Given the description of an element on the screen output the (x, y) to click on. 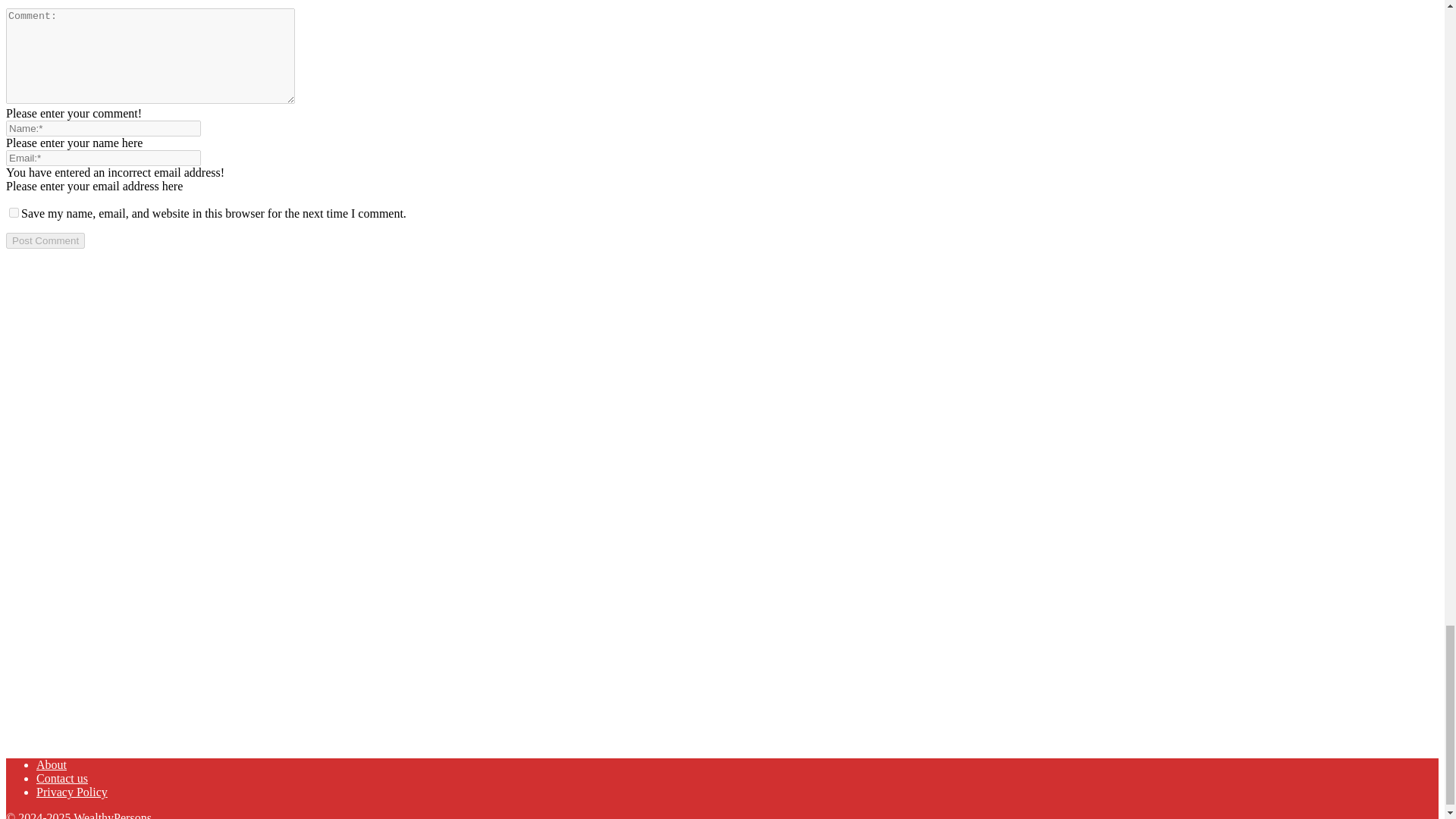
Privacy Policy (71, 791)
Contact us (61, 778)
About (51, 764)
yes (13, 212)
Post Comment (44, 240)
Post Comment (44, 240)
